Given the description of an element on the screen output the (x, y) to click on. 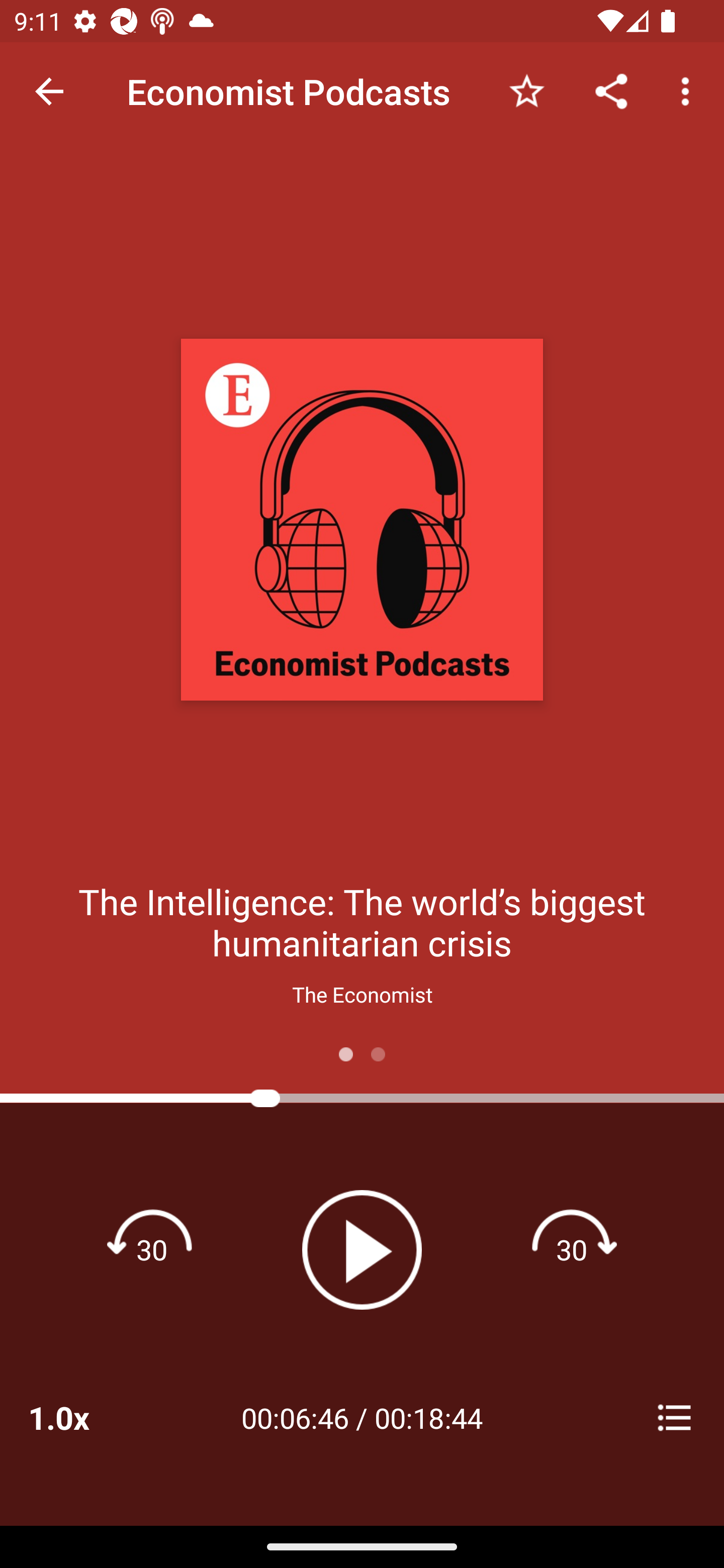
Navigate up (49, 91)
Add to Favorites (526, 90)
Share... (611, 90)
More options (688, 90)
The Economist (361, 994)
Play (361, 1249)
Rewind (151, 1249)
Fast forward (571, 1249)
1.0x Playback Speeds (84, 1417)
00:18:44 (428, 1417)
